Given the description of an element on the screen output the (x, y) to click on. 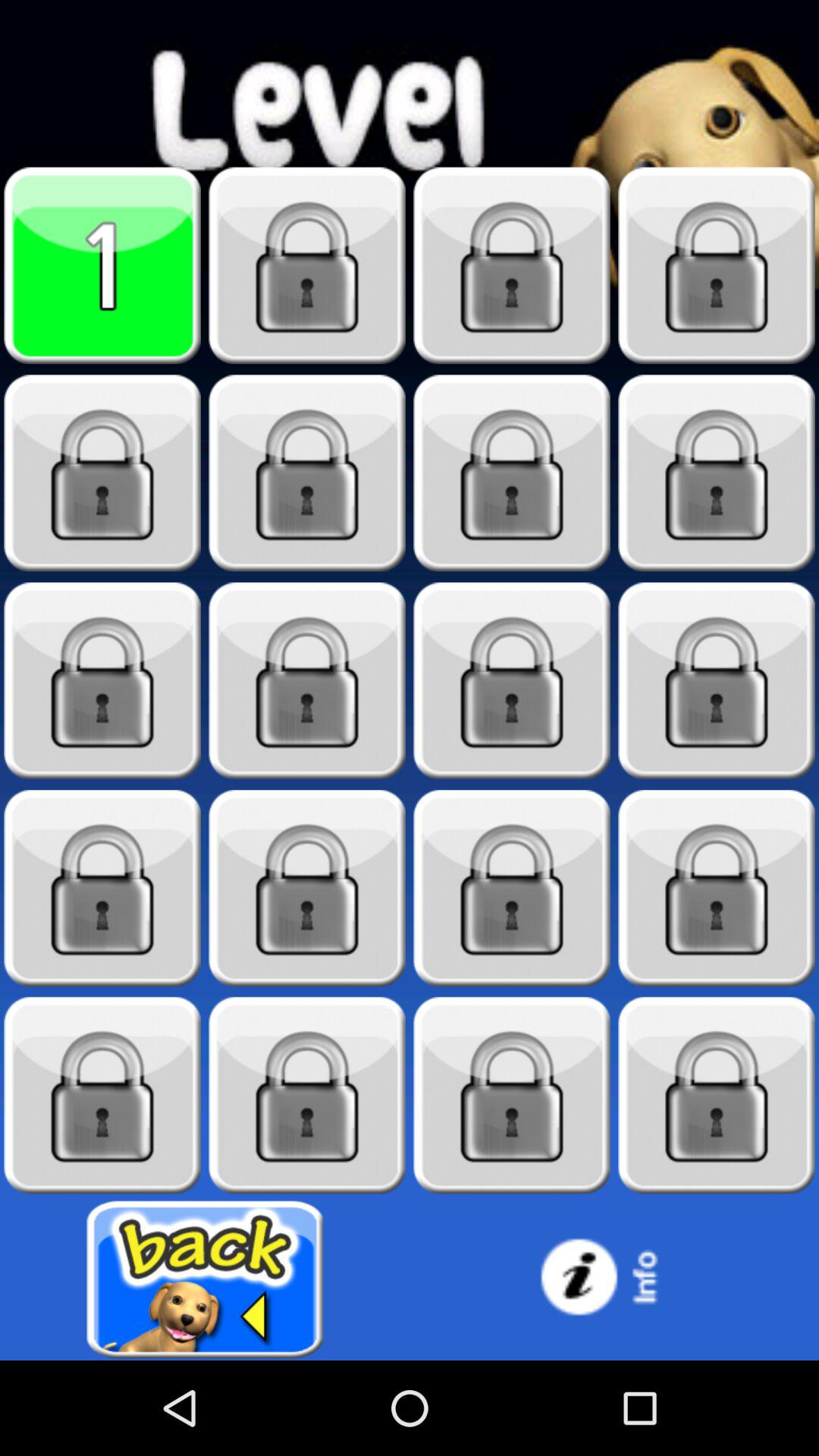
locked stage (716, 887)
